Given the description of an element on the screen output the (x, y) to click on. 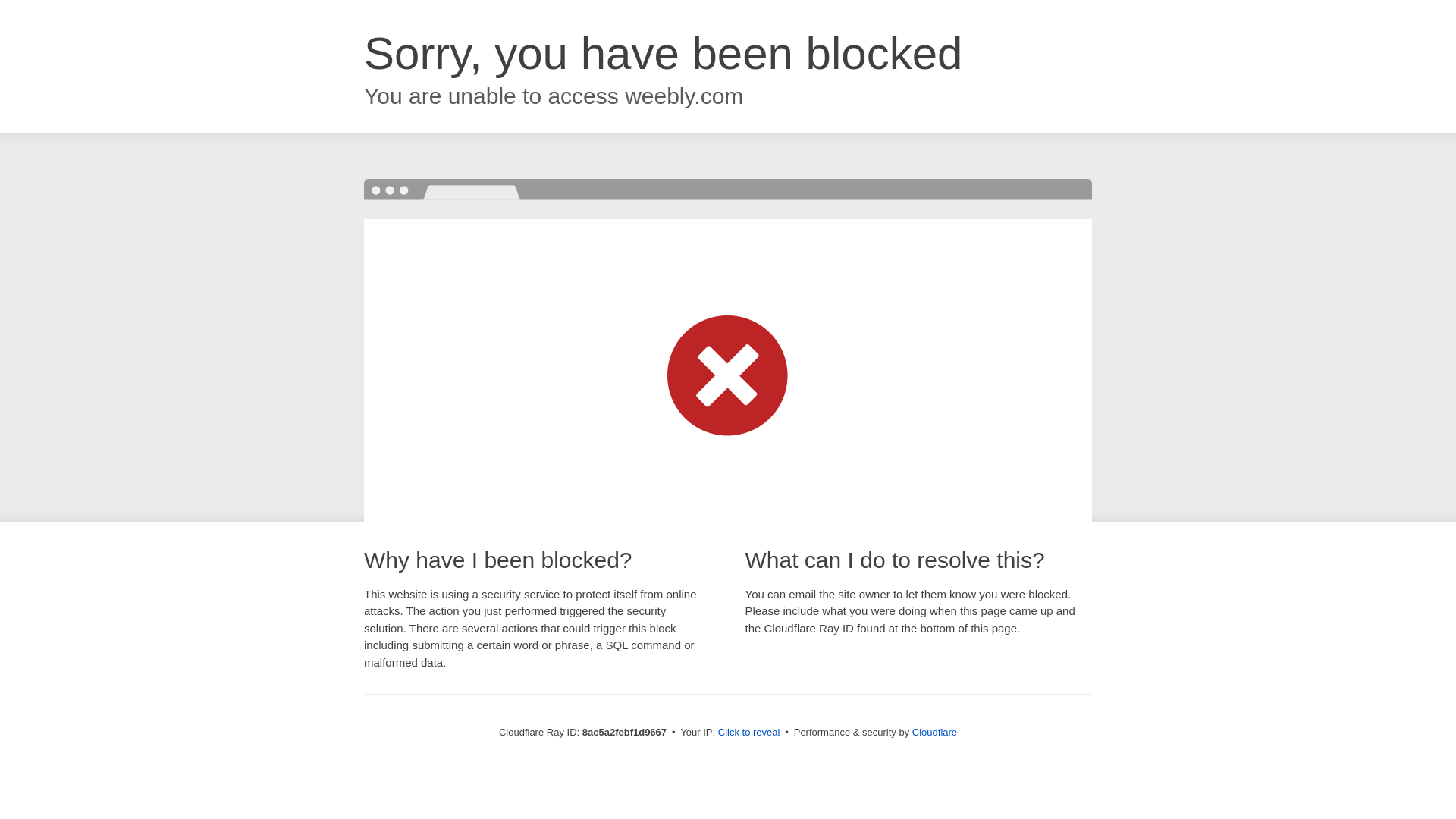
Cloudflare (934, 731)
Click to reveal (748, 732)
